Given the description of an element on the screen output the (x, y) to click on. 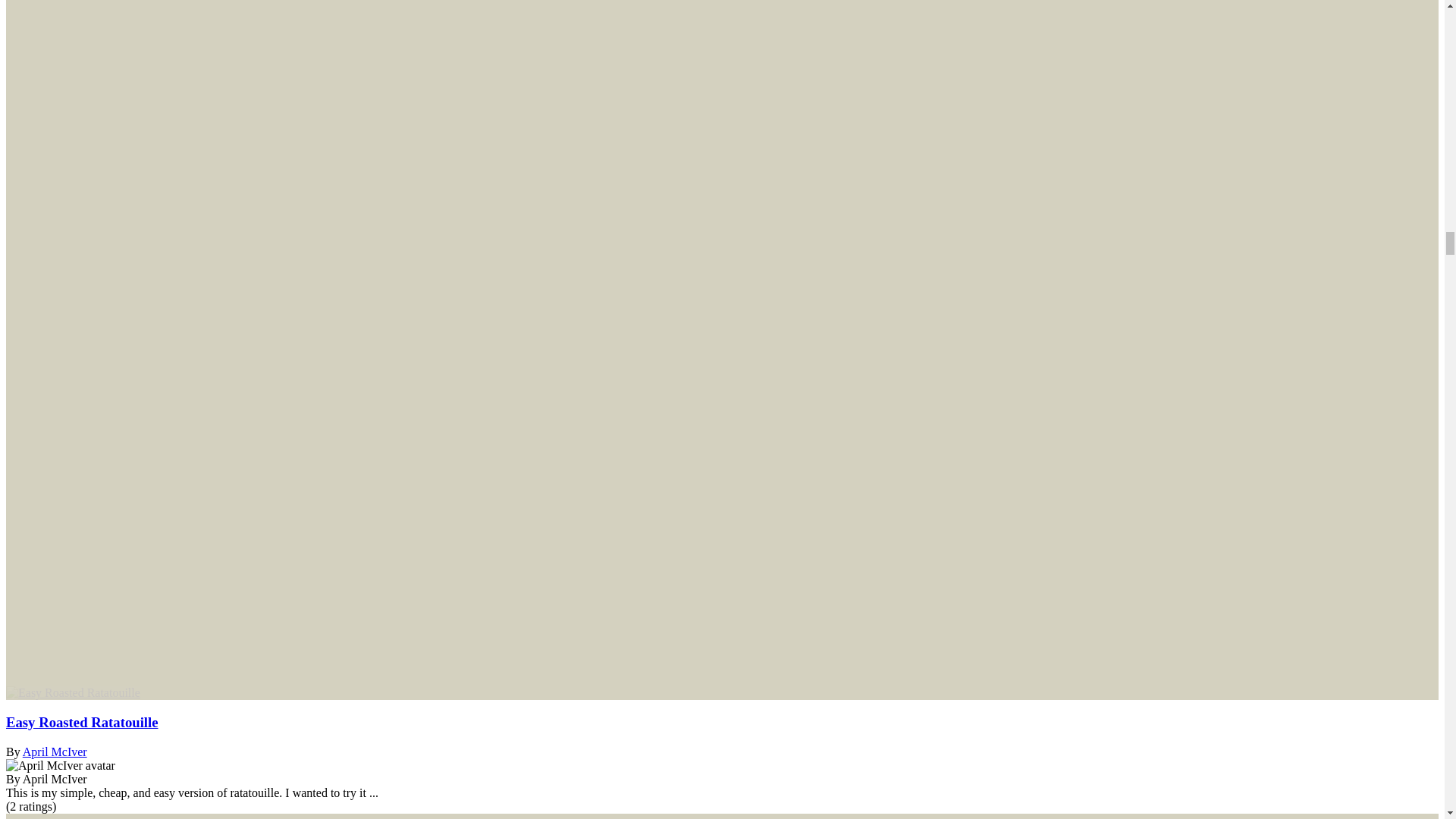
April McIver (55, 751)
5 (30, 806)
Easy Roasted Ratatouille (81, 722)
April McIver (60, 766)
